Given the description of an element on the screen output the (x, y) to click on. 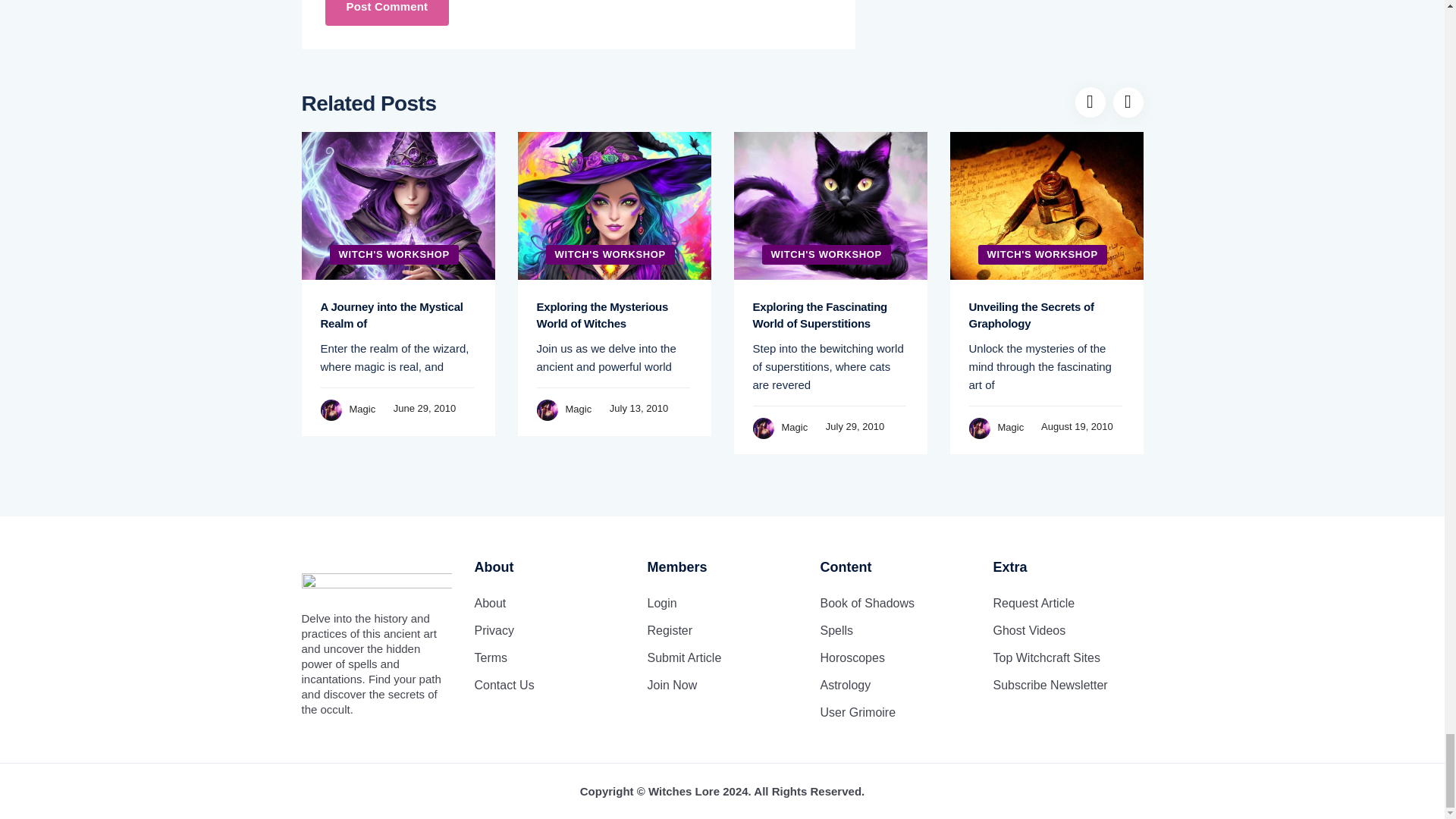
Post Comment (386, 13)
